Given the description of an element on the screen output the (x, y) to click on. 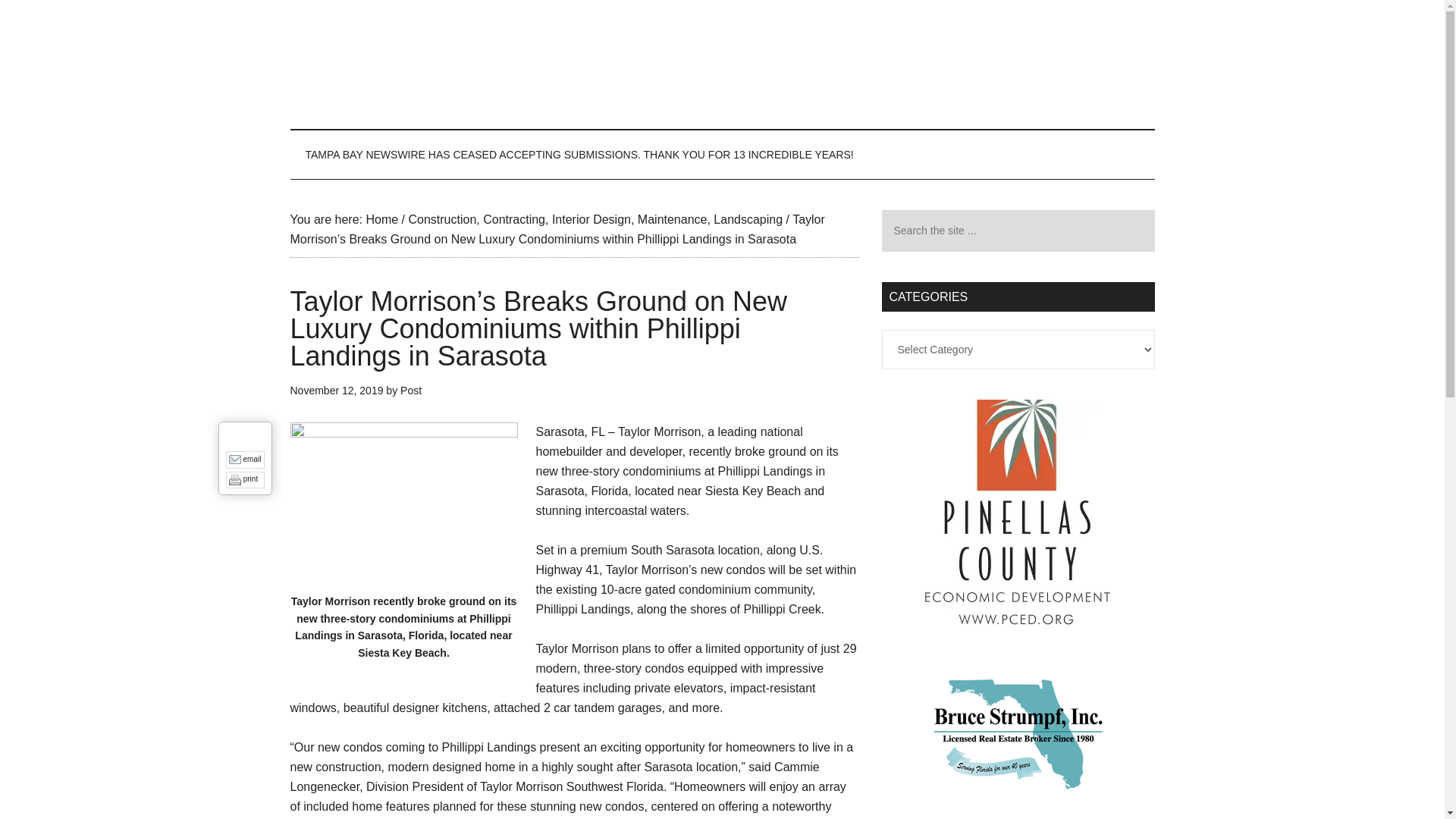
Home (381, 219)
Post (411, 390)
print (250, 479)
Tampa Bay News Wire (721, 64)
